Given the description of an element on the screen output the (x, y) to click on. 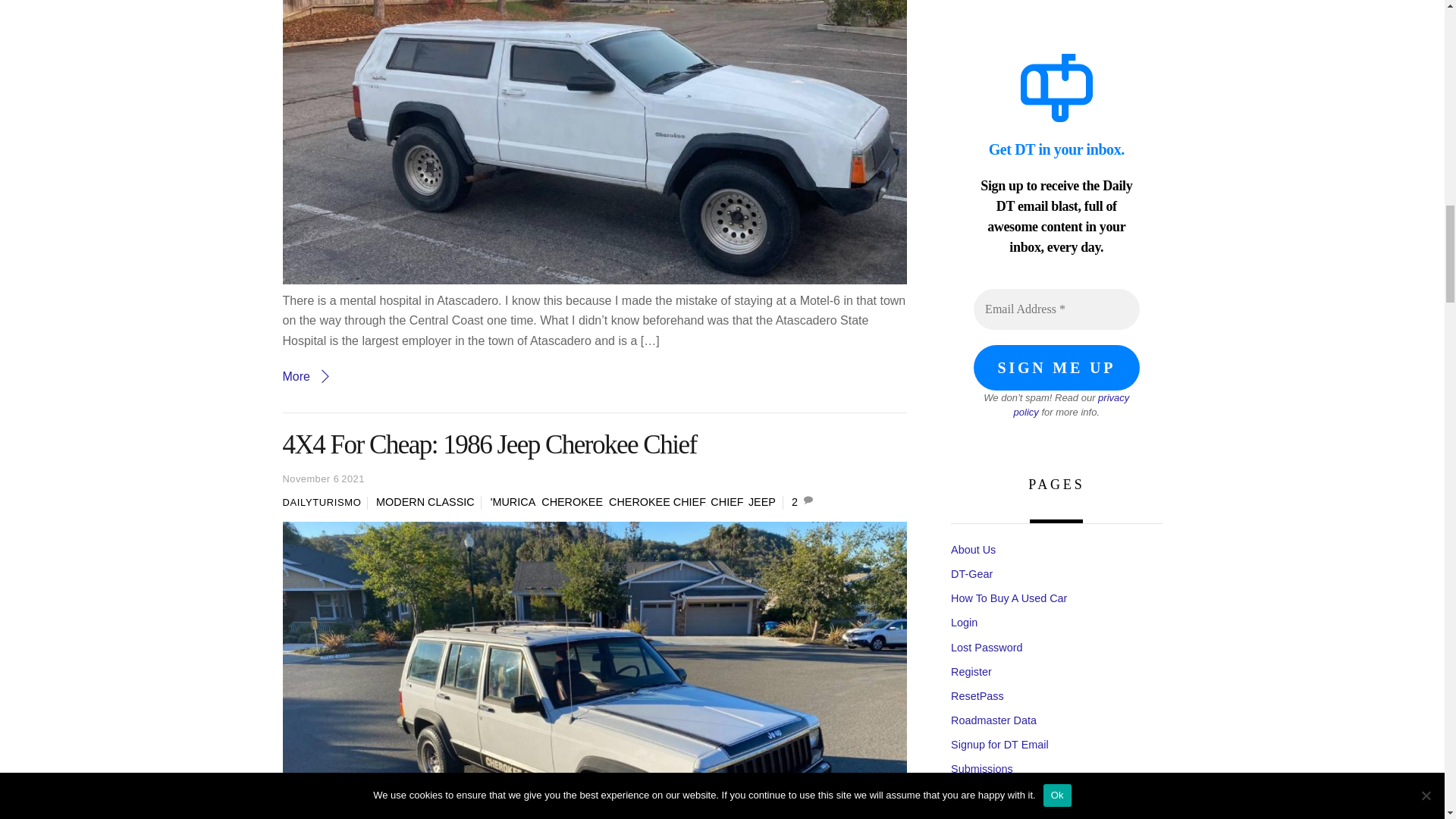
Sign me up (1056, 367)
